Given the description of an element on the screen output the (x, y) to click on. 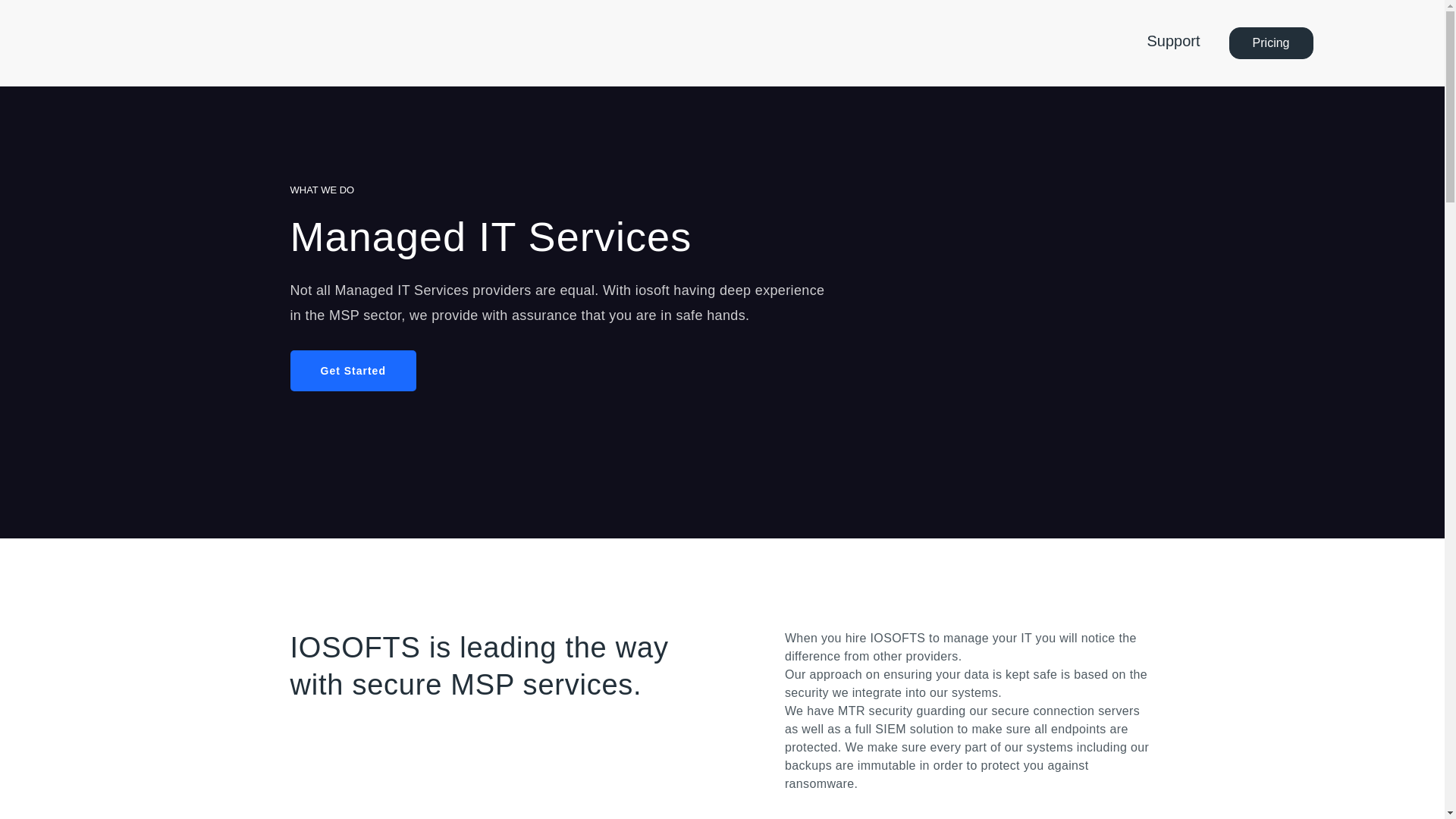
Pricing (1270, 42)
Support (1173, 42)
Get Started (351, 370)
